Given the description of an element on the screen output the (x, y) to click on. 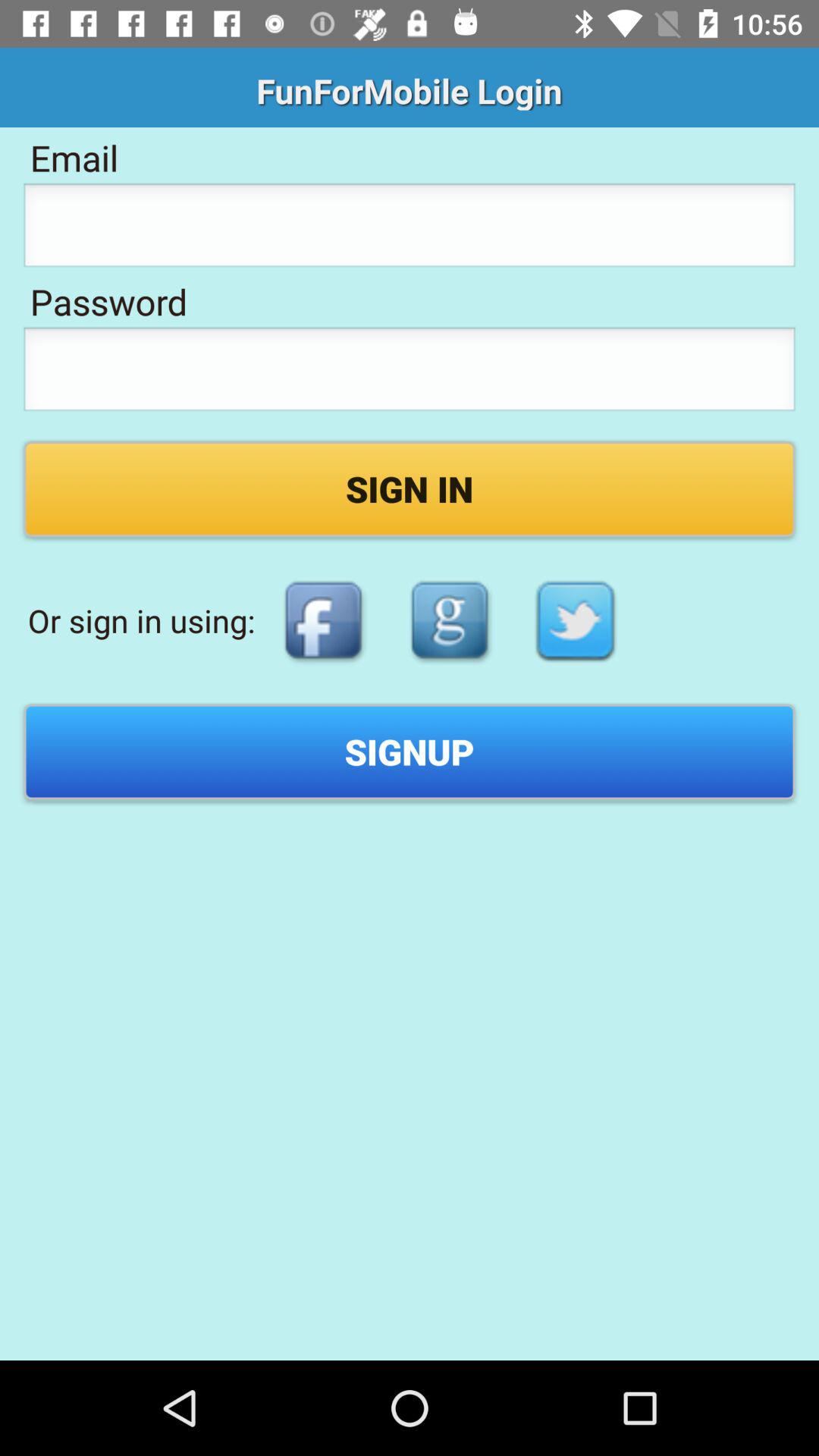
tap item below sign in item (449, 620)
